Given the description of an element on the screen output the (x, y) to click on. 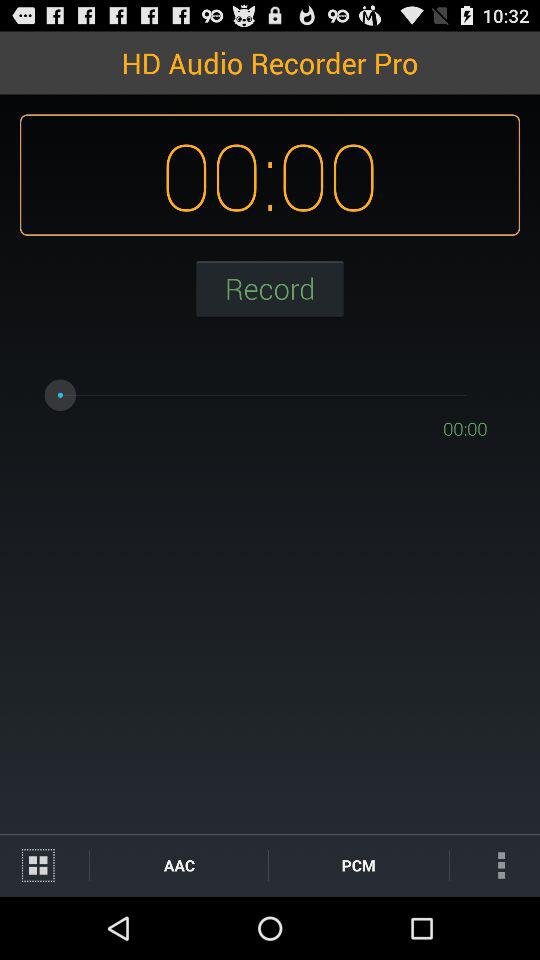
click the icon to the right of the pcm (494, 864)
